Given the description of an element on the screen output the (x, y) to click on. 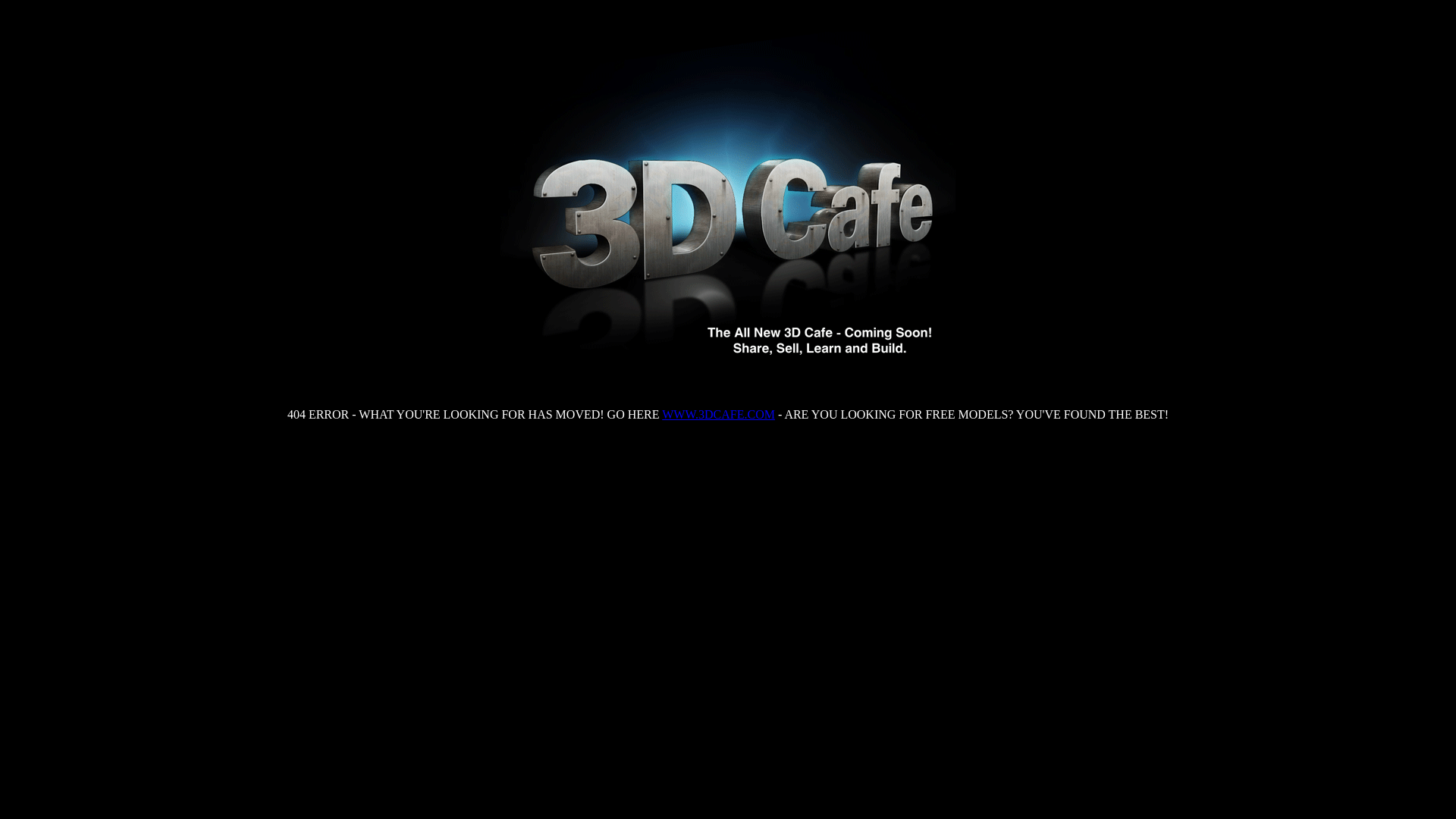
WWW.3DCAFE.COM Element type: text (718, 413)
Advertisement Element type: hover (727, 481)
